Given the description of an element on the screen output the (x, y) to click on. 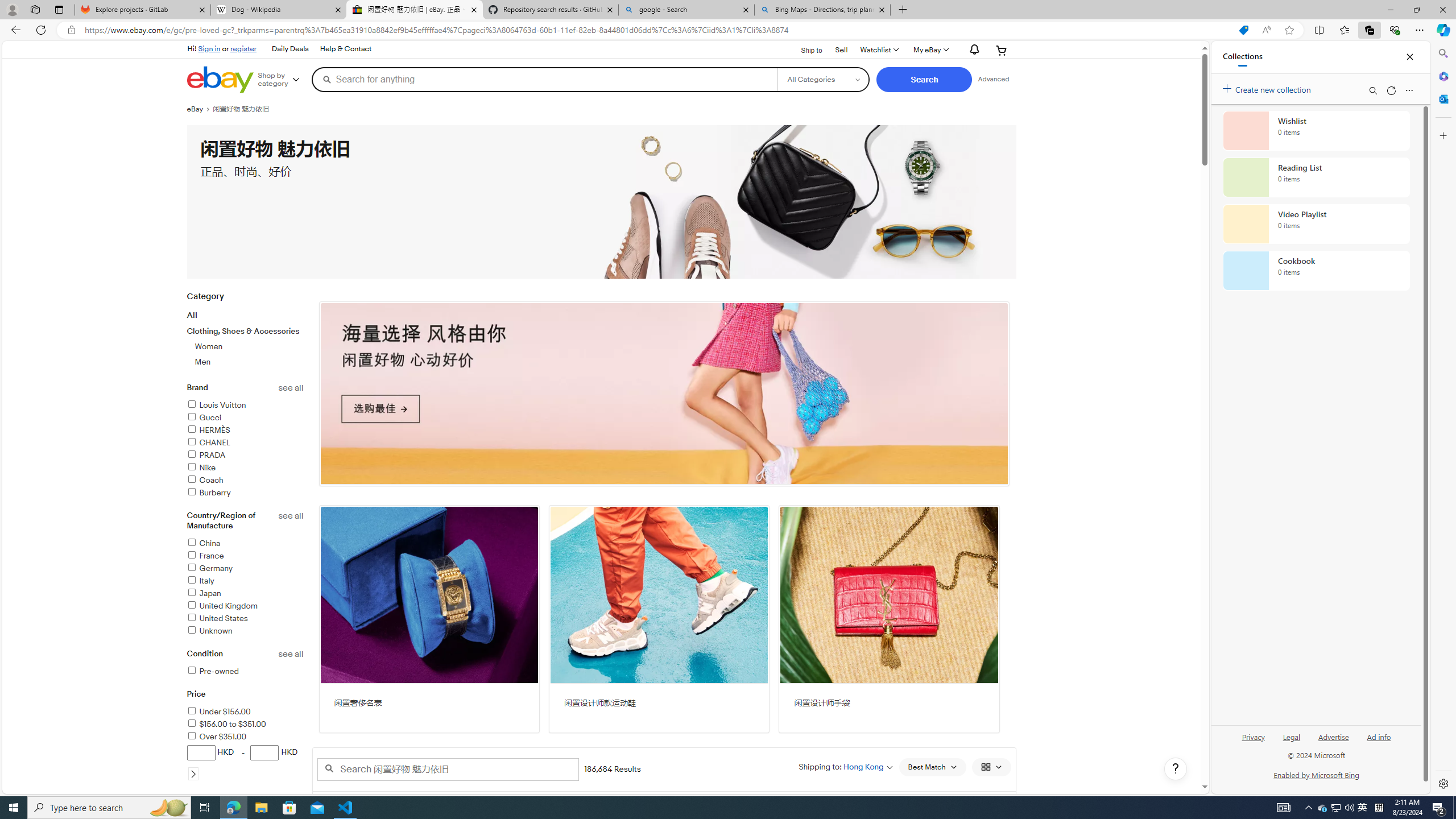
Over $351.00 (245, 737)
Dog - Wikipedia (277, 9)
Germany (245, 568)
Help & Contact (345, 49)
Enter your search keyword (448, 768)
Conditionsee allPre-owned (245, 668)
You have the best price! (1243, 29)
Burberry (245, 493)
PRADA (245, 455)
Ship to (804, 49)
Reading List collection, 0 items (1316, 177)
